Given the description of an element on the screen output the (x, y) to click on. 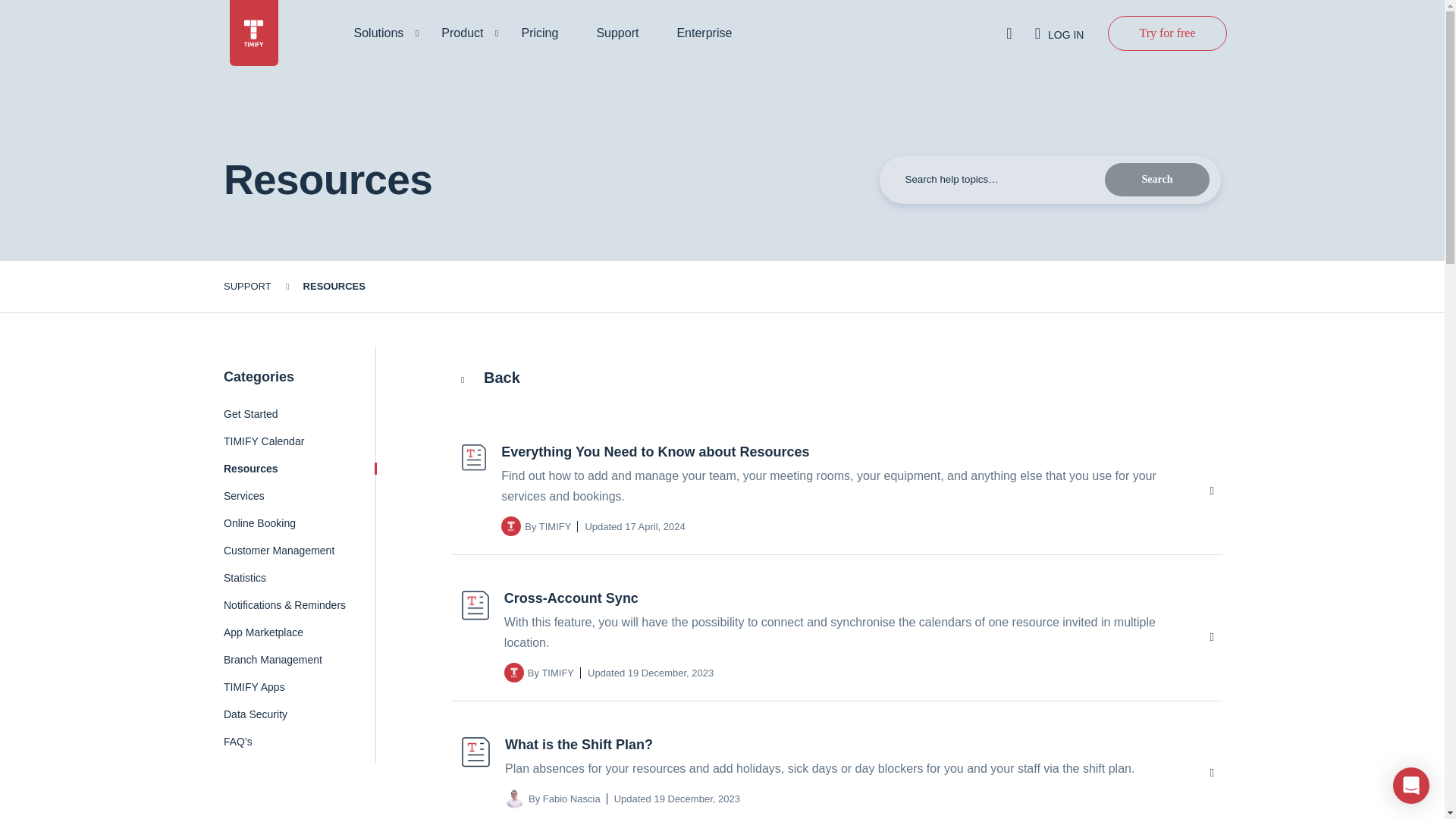
Search (1157, 179)
SUPPORT (247, 285)
LOG IN (1059, 32)
Enterprise (711, 33)
Support (624, 33)
Pricing (547, 33)
Try for free (1166, 32)
RESOURCES (333, 285)
